Given the description of an element on the screen output the (x, y) to click on. 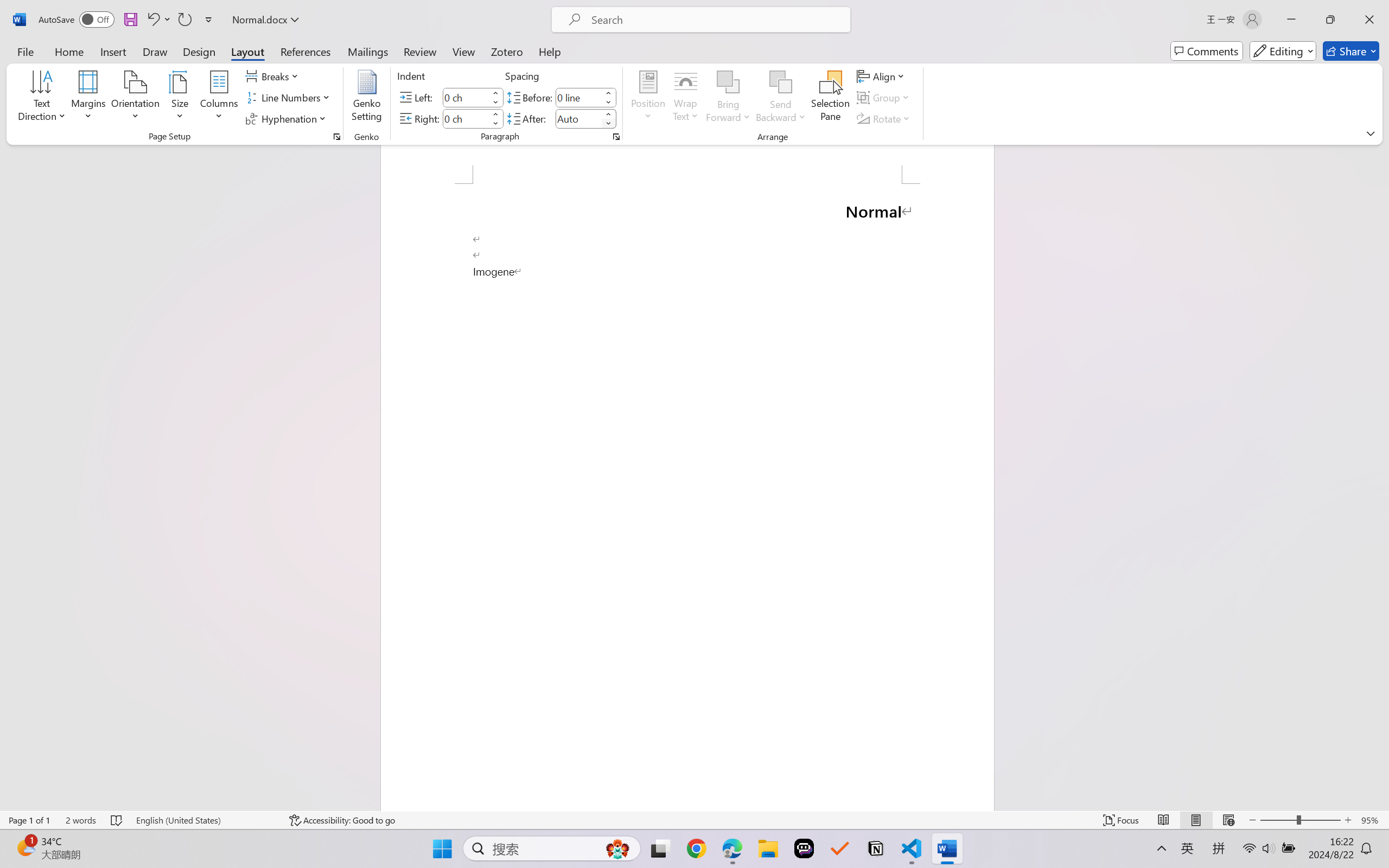
Bring Forward (728, 97)
More (608, 113)
Spacing After (578, 118)
Paragraph... (615, 136)
Align (881, 75)
